Given the description of an element on the screen output the (x, y) to click on. 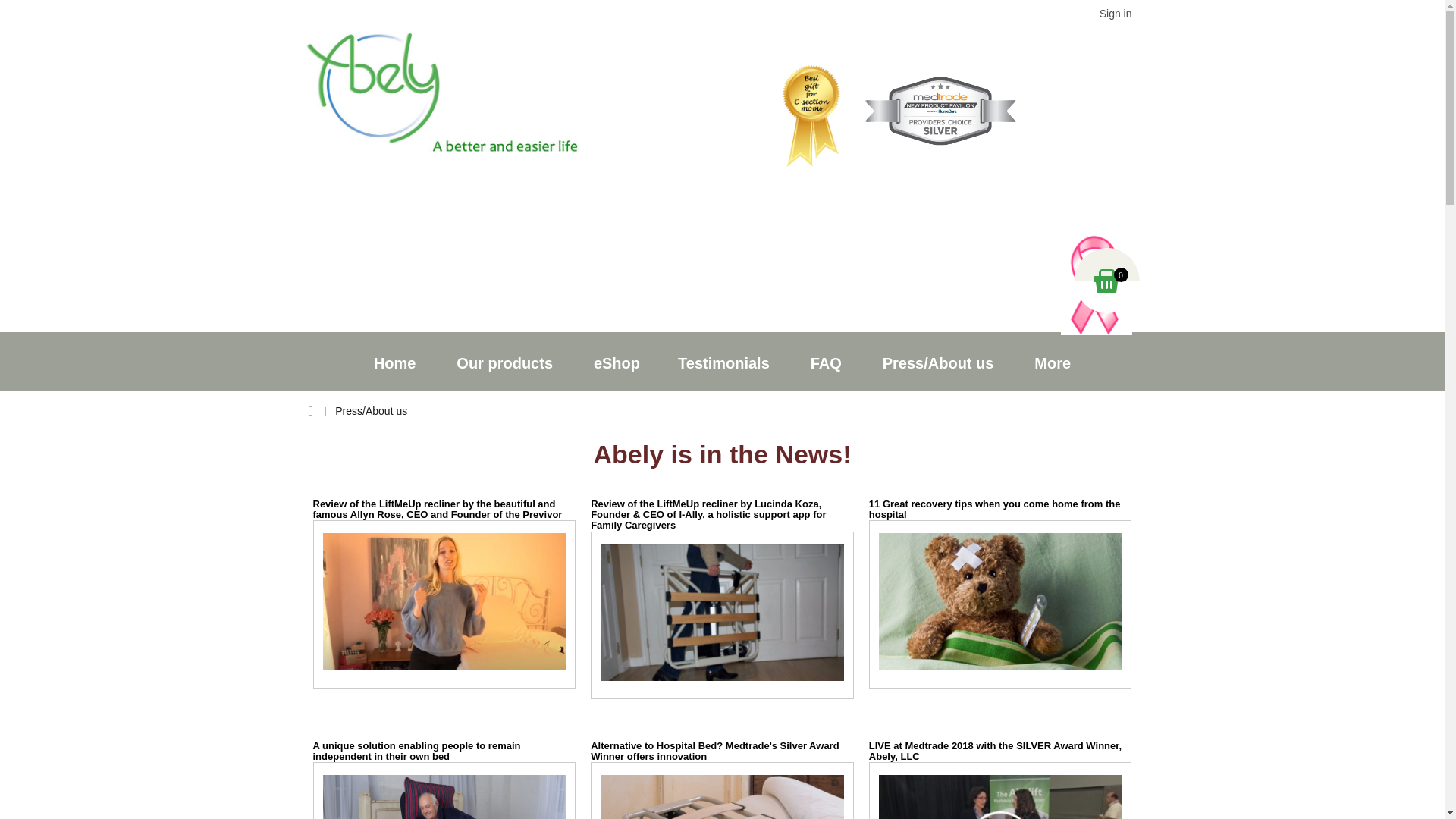
eShop (617, 362)
FAQ (826, 362)
FAQ (826, 362)
Sign in (1116, 12)
eShop (617, 362)
View my shopping cart (1106, 280)
Our products (505, 362)
Our products (505, 362)
Login to your customer account (1116, 12)
Home (395, 362)
